Given the description of an element on the screen output the (x, y) to click on. 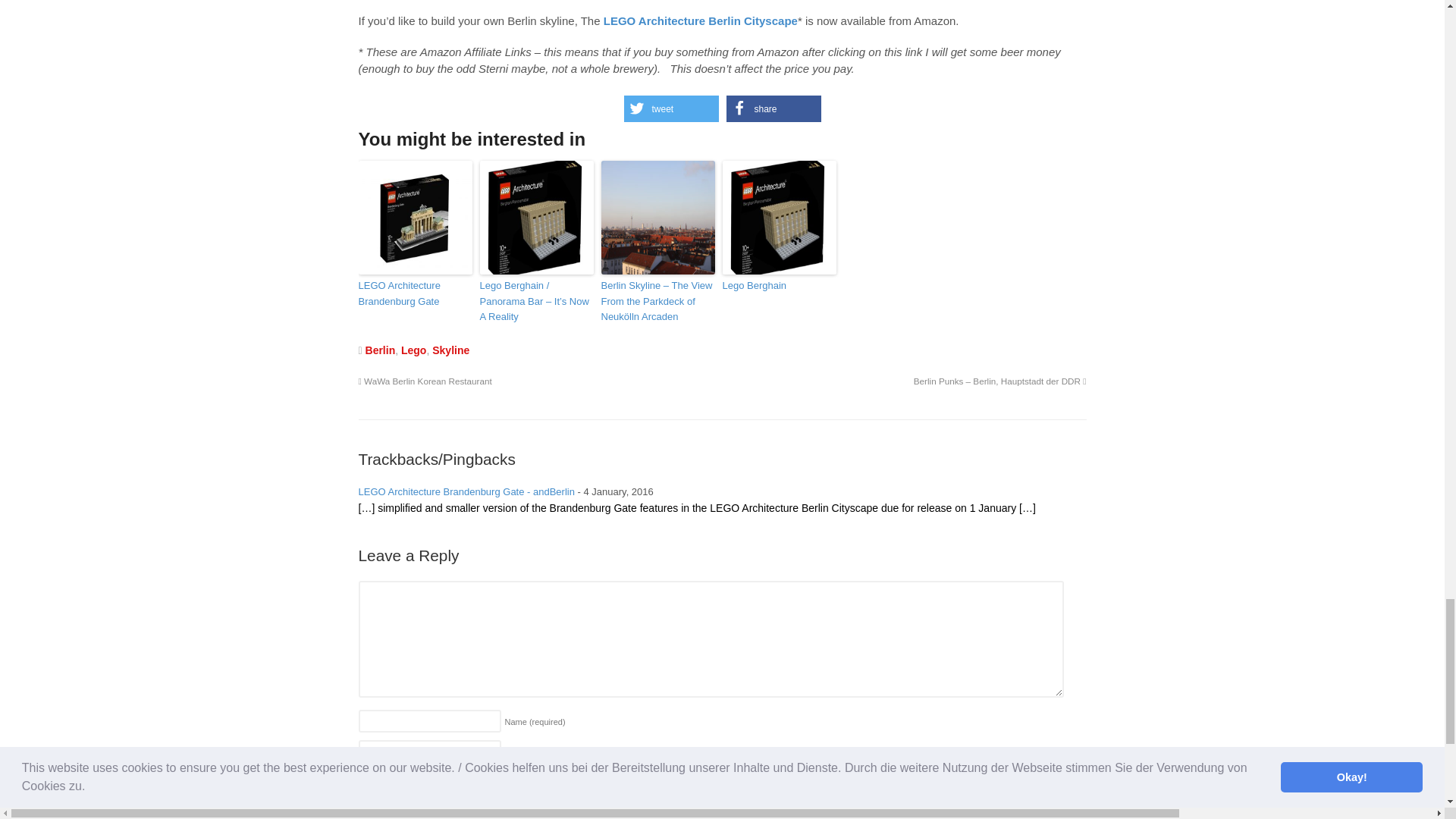
1 (366, 808)
Share on Twitter (670, 108)
Share on Facebook (773, 108)
